Given the description of an element on the screen output the (x, y) to click on. 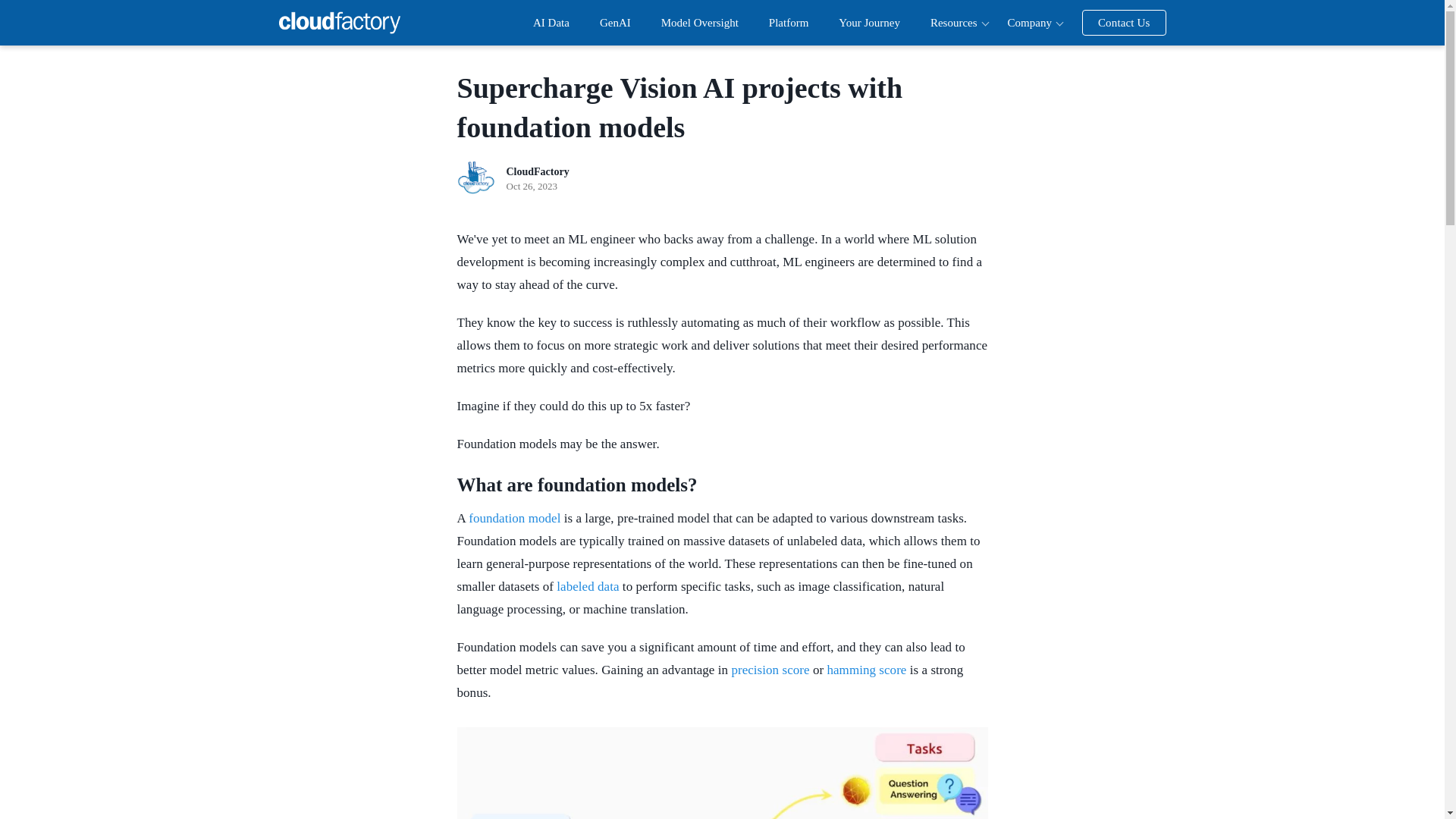
labeled data (587, 586)
Platform (788, 22)
Supercharge Vision AI projects with foundation models (679, 107)
precision score (769, 669)
CloudFactory (537, 171)
GenAI (614, 22)
foundation model (514, 518)
hamming score (866, 669)
Model Oversight (699, 22)
CloudFactory (339, 22)
Your Journey (868, 22)
AI Data (550, 22)
Contact Us (1123, 22)
